Given the description of an element on the screen output the (x, y) to click on. 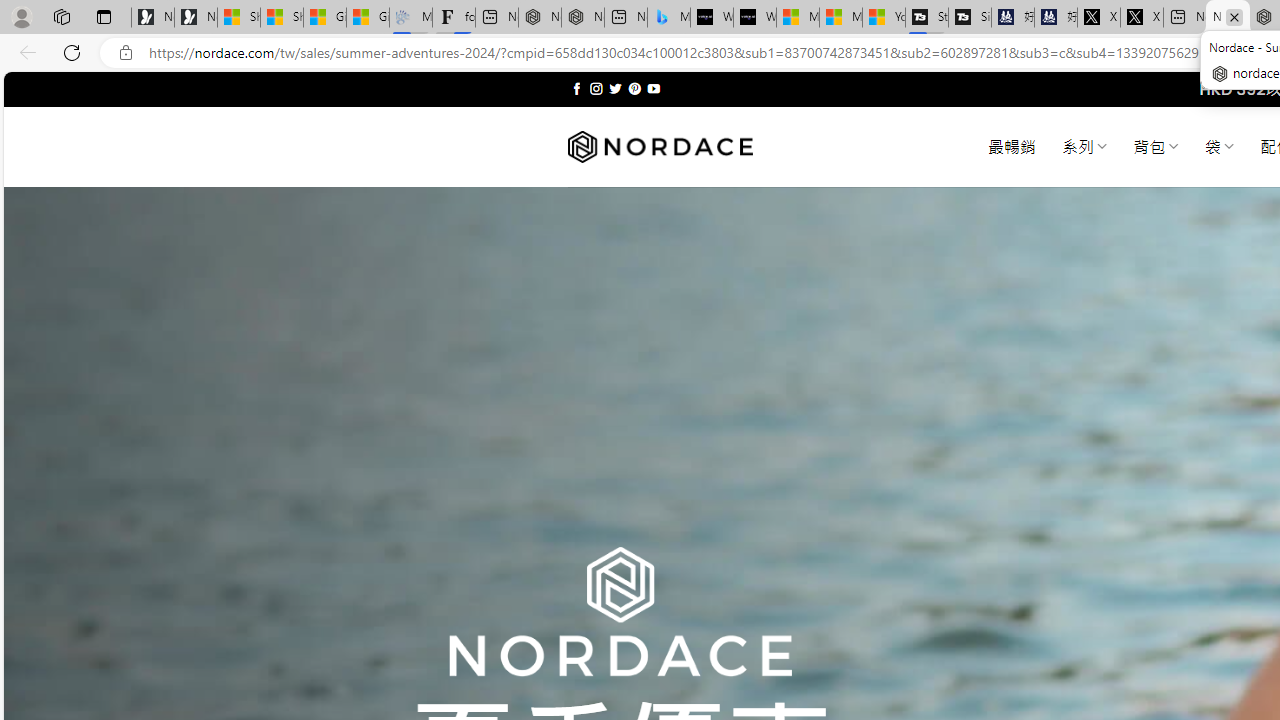
Follow on Instagram (596, 88)
Follow on YouTube (653, 88)
Follow on Pinterest (634, 88)
